Given the description of an element on the screen output the (x, y) to click on. 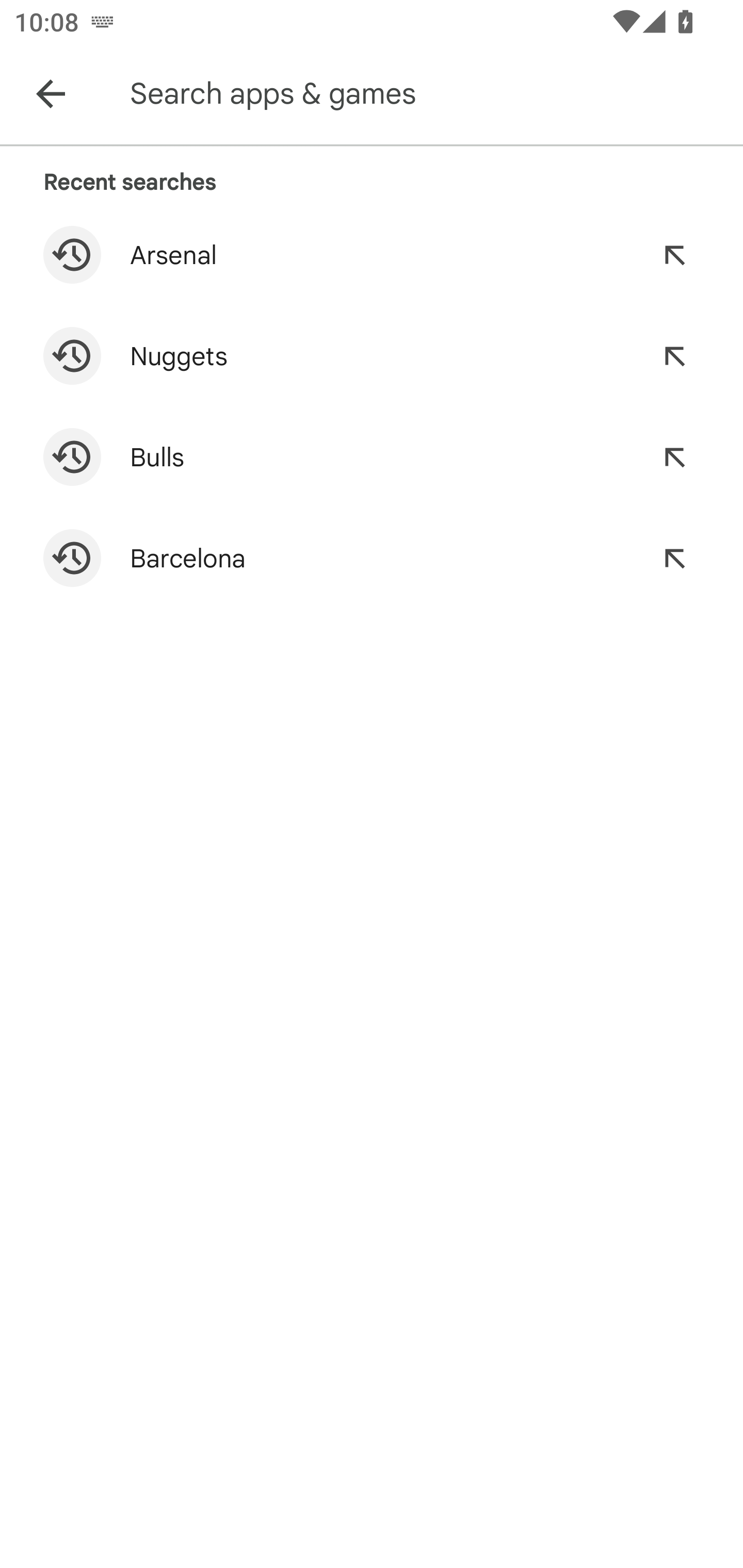
Navigate up (50, 93)
Search apps & games (432, 93)
Search for "Arsenal"  Refine search to "Arsenal" (371, 254)
Refine search to "Arsenal" (673, 254)
Search for "Nuggets"  Refine search to "Nuggets" (371, 355)
Refine search to "Nuggets" (673, 355)
Search for "Bulls"  Refine search to "Bulls" (371, 457)
Refine search to "Bulls" (673, 457)
Refine search to "Barcelona" (673, 558)
